Given the description of an element on the screen output the (x, y) to click on. 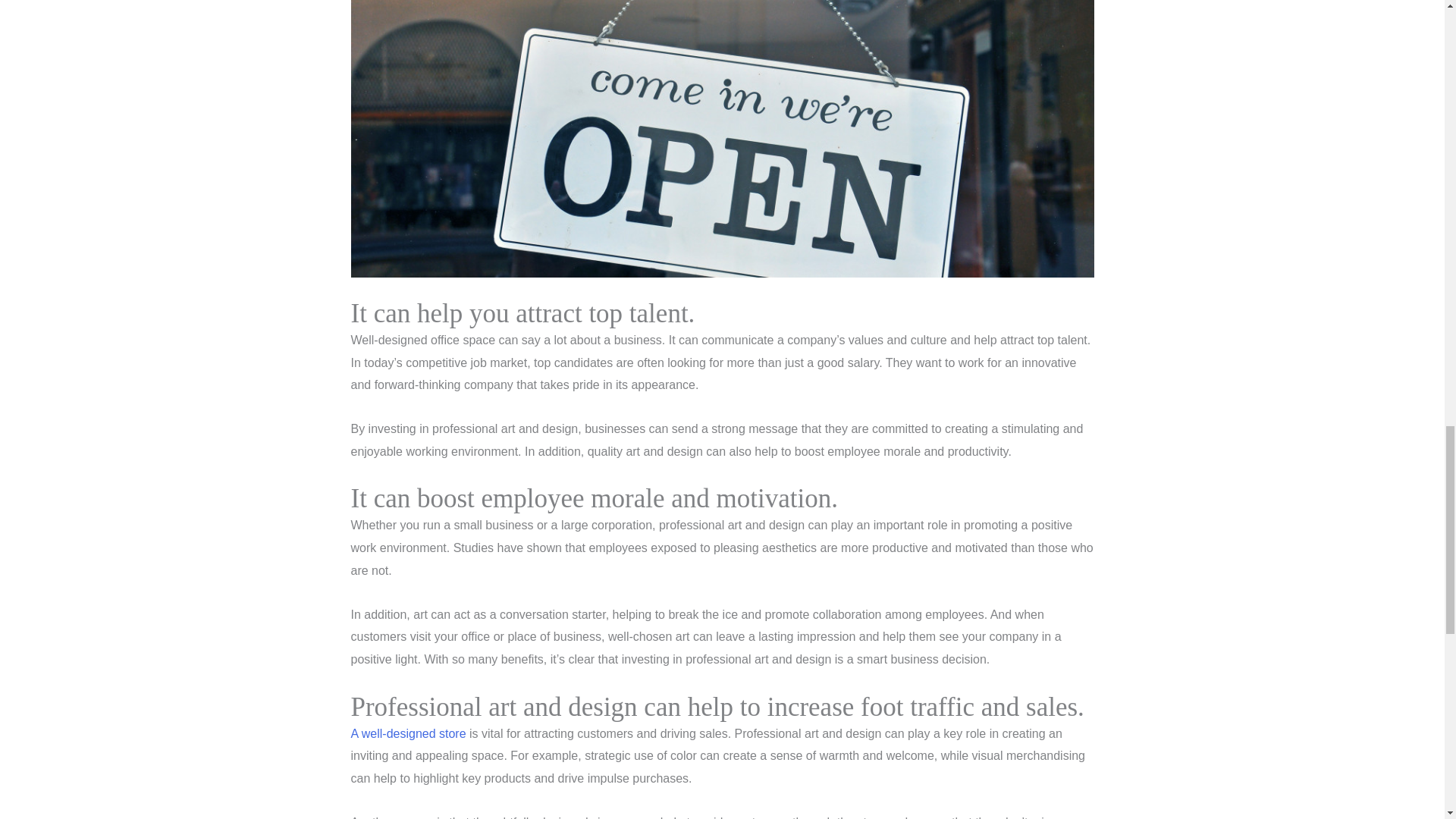
A well-designed store (407, 733)
